Given the description of an element on the screen output the (x, y) to click on. 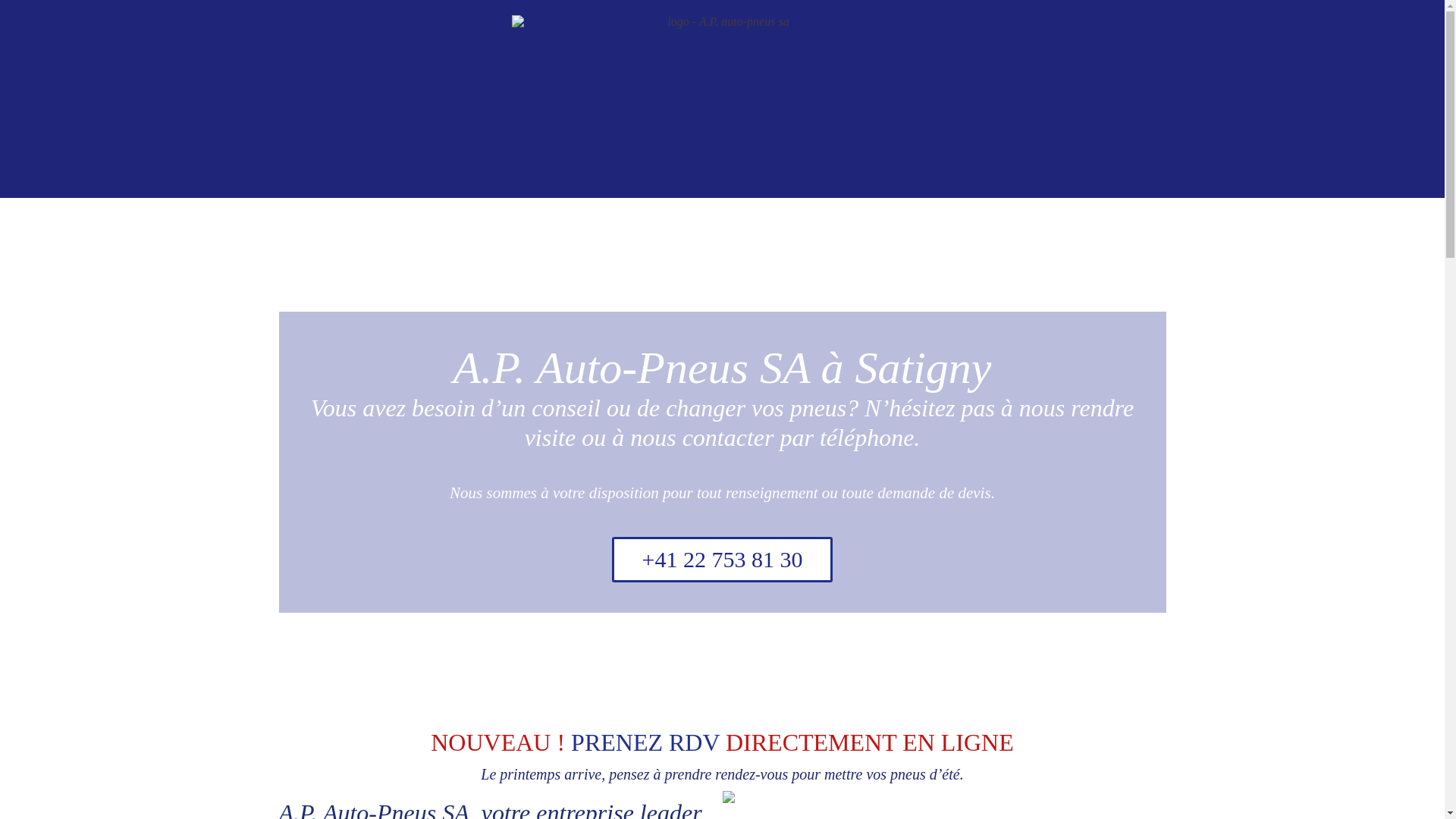
+41 22 753 81 30 Element type: text (721, 559)
PRENEZ RDV Element type: text (645, 742)
